Given the description of an element on the screen output the (x, y) to click on. 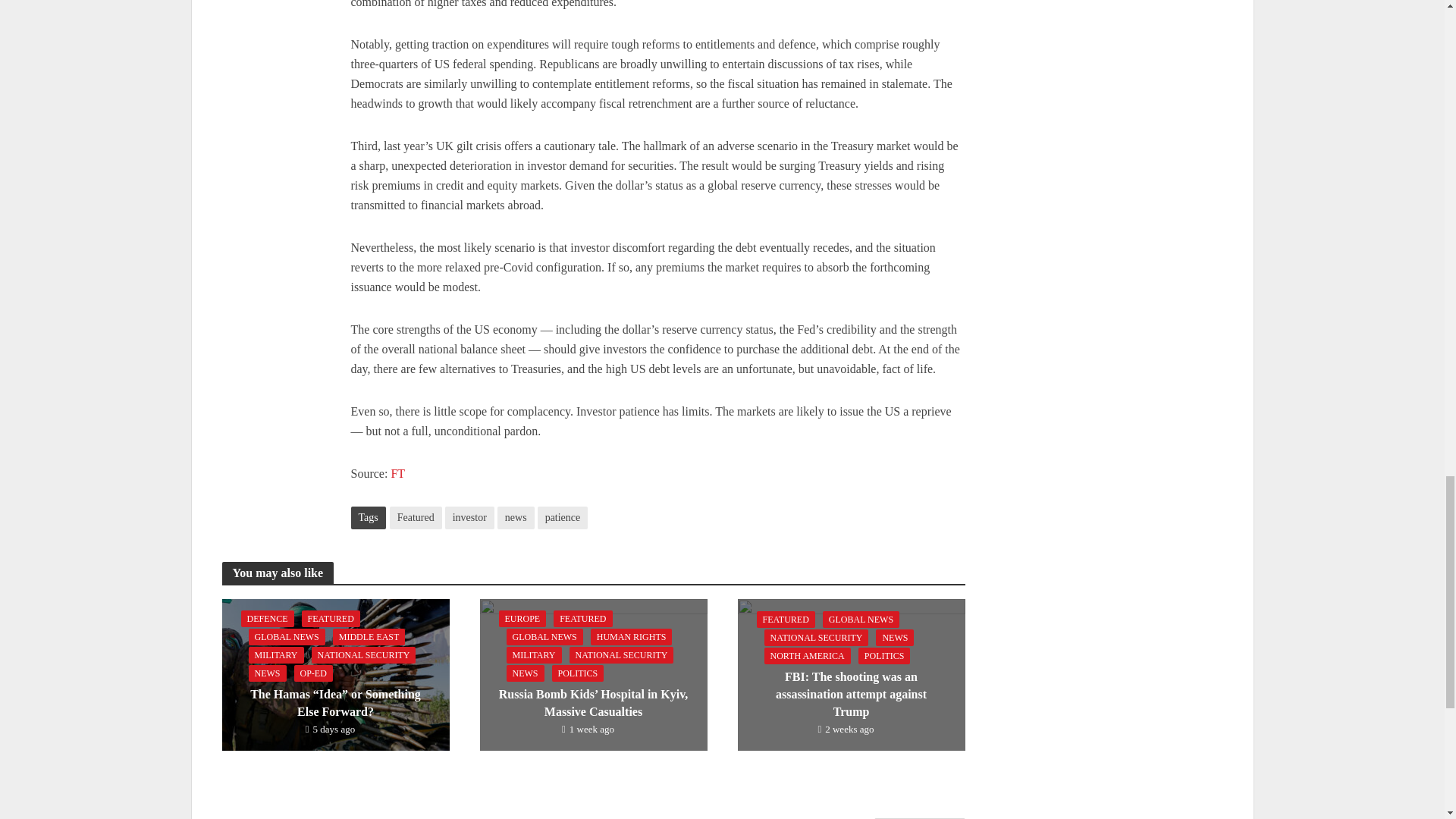
FBI: The shooting was an assassination attempt against Trump (849, 673)
